Given the description of an element on the screen output the (x, y) to click on. 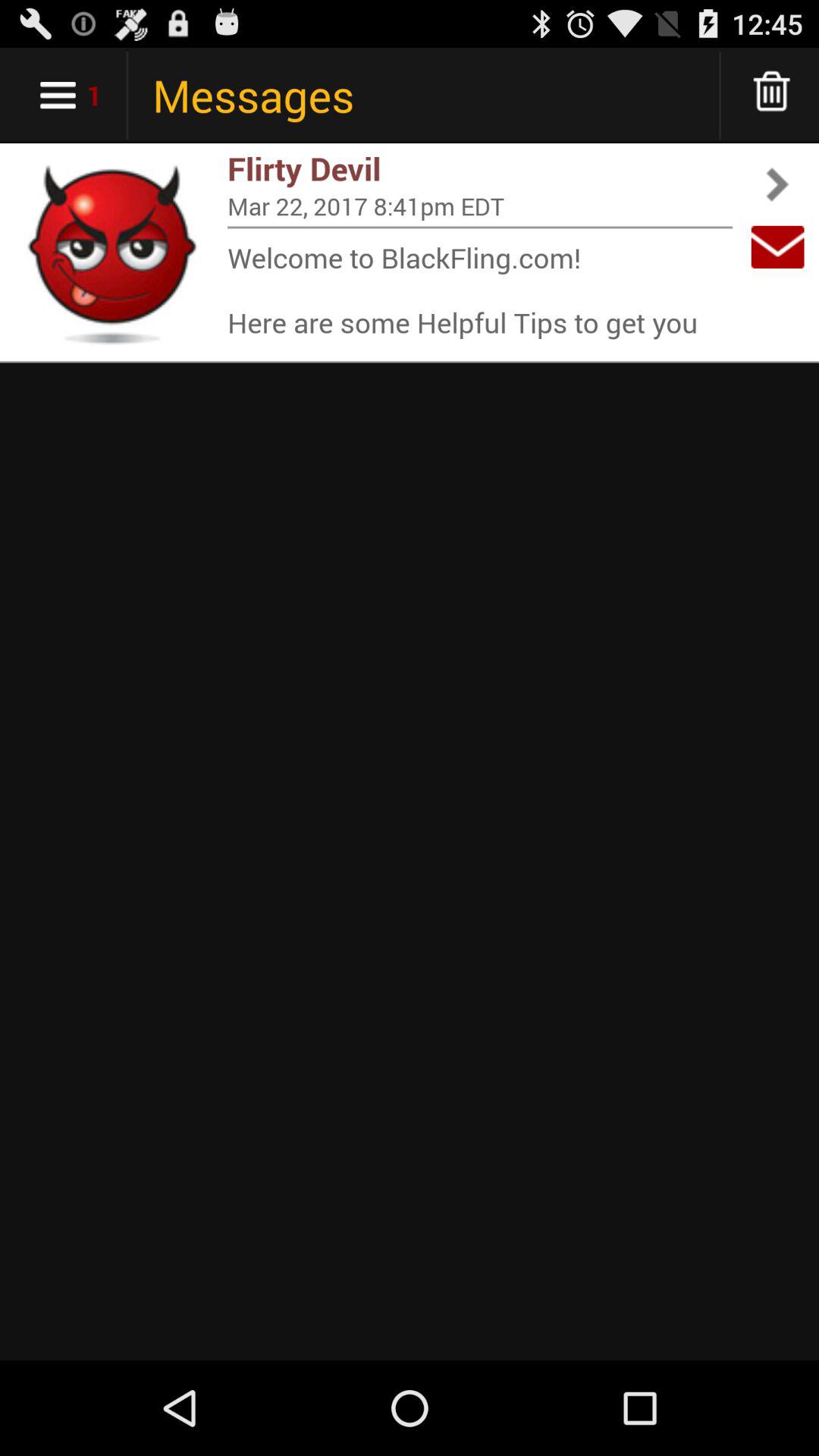
delete messages (772, 95)
